Given the description of an element on the screen output the (x, y) to click on. 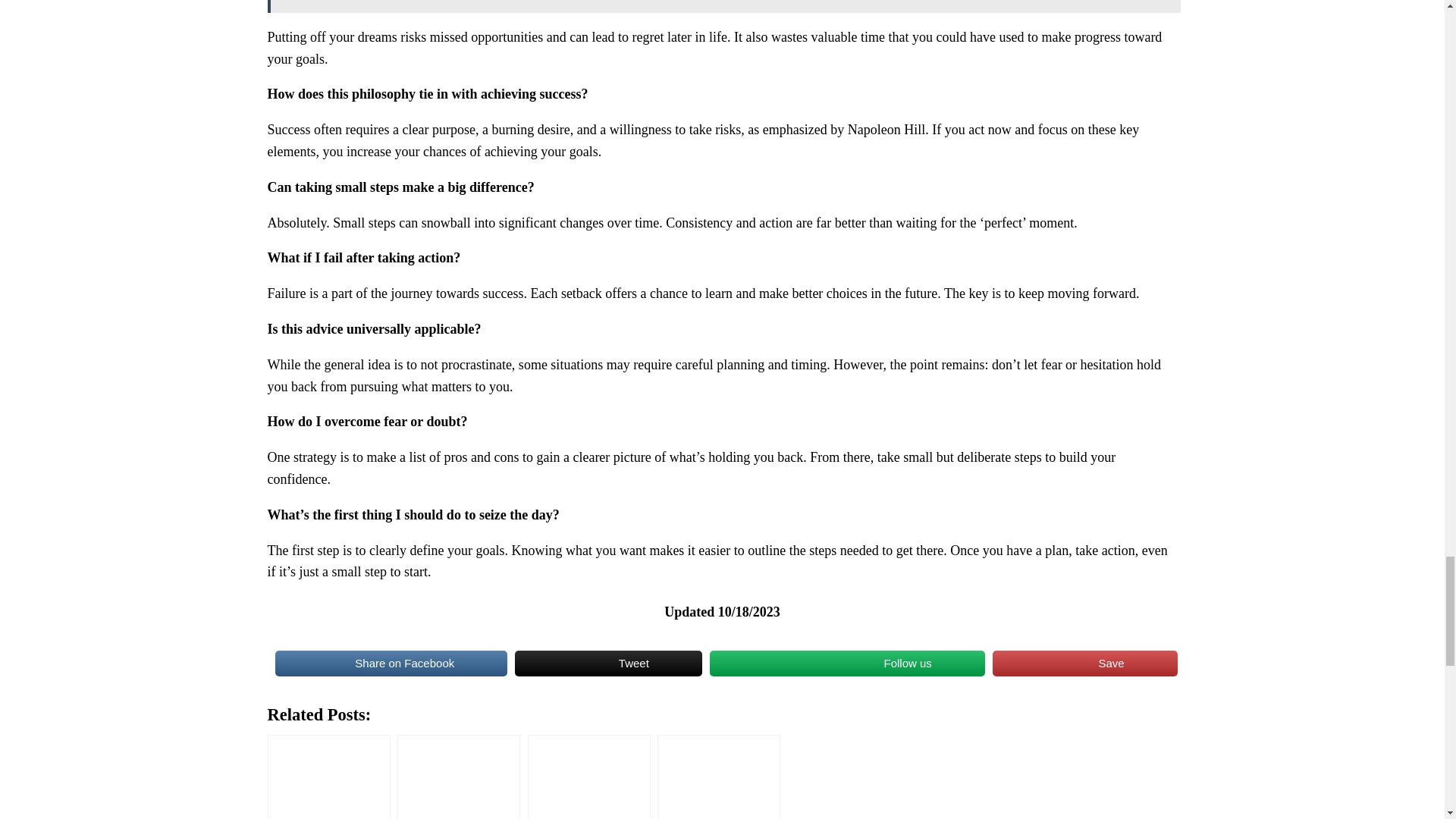
Share on Facebook (390, 663)
Inspirational Classic Unisex Jersey Short Sleeve Tee (588, 776)
Save (1084, 663)
Chase Dreams, Not Just Goals (458, 776)
Chase Dreams, Not Just Goals (458, 776)
Inspirational Classic Unisex Jersey Short Sleeve Tee (588, 776)
Follow us (847, 663)
Tweet (608, 663)
